Given the description of an element on the screen output the (x, y) to click on. 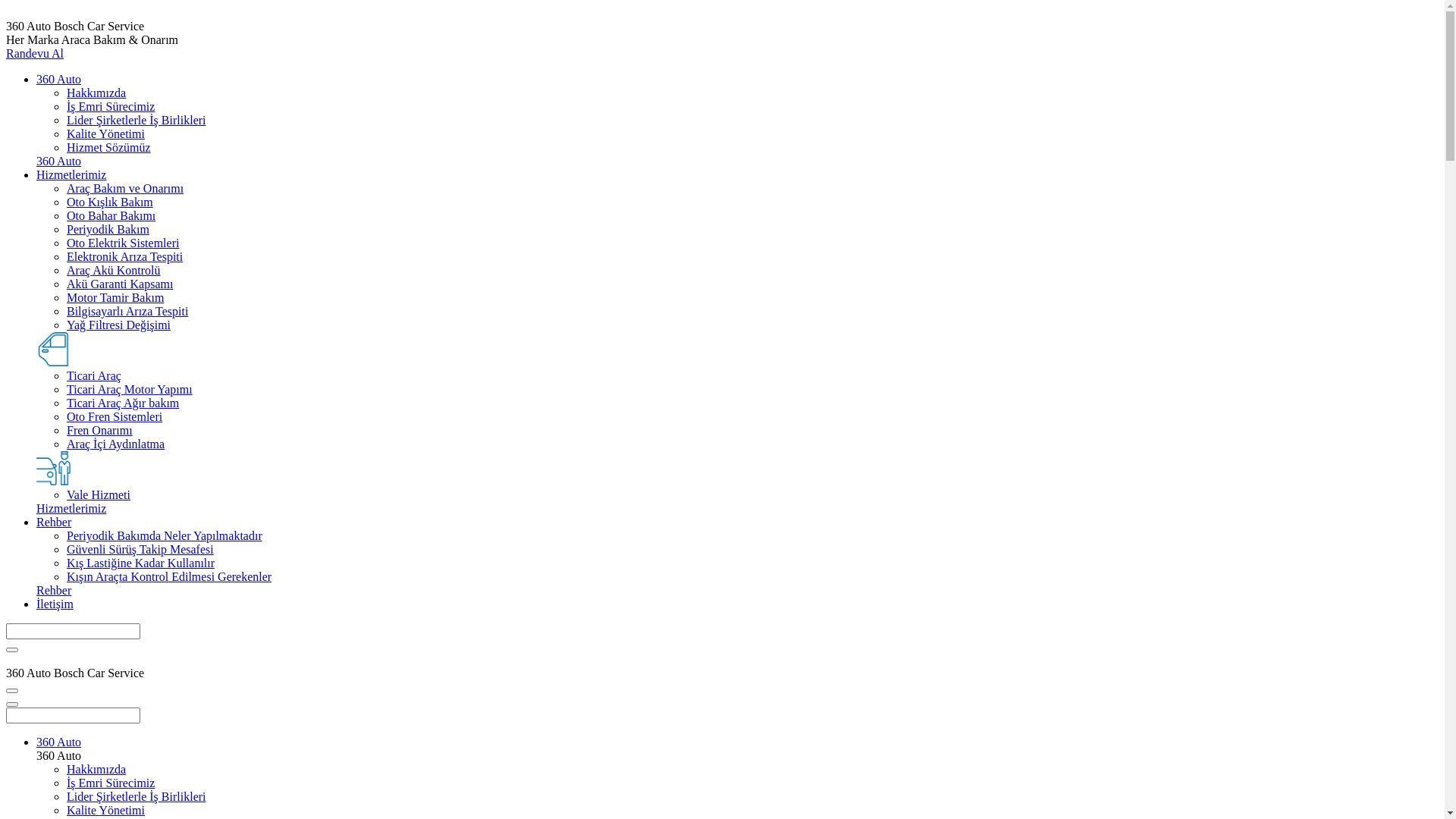
360 Auto Element type: text (58, 160)
Rehber Element type: text (53, 589)
Hizmetlerimiz Element type: text (71, 174)
Vale Hizmeti Element type: text (98, 494)
Rehber Element type: text (53, 521)
Oto Fren Sistemleri Element type: text (114, 416)
Oto Elektrik Sistemleri Element type: text (122, 242)
Hizmetlerimiz Element type: text (71, 508)
360 Auto Element type: text (58, 78)
Randevu Al Element type: text (34, 53)
360 Auto Element type: text (58, 741)
